Given the description of an element on the screen output the (x, y) to click on. 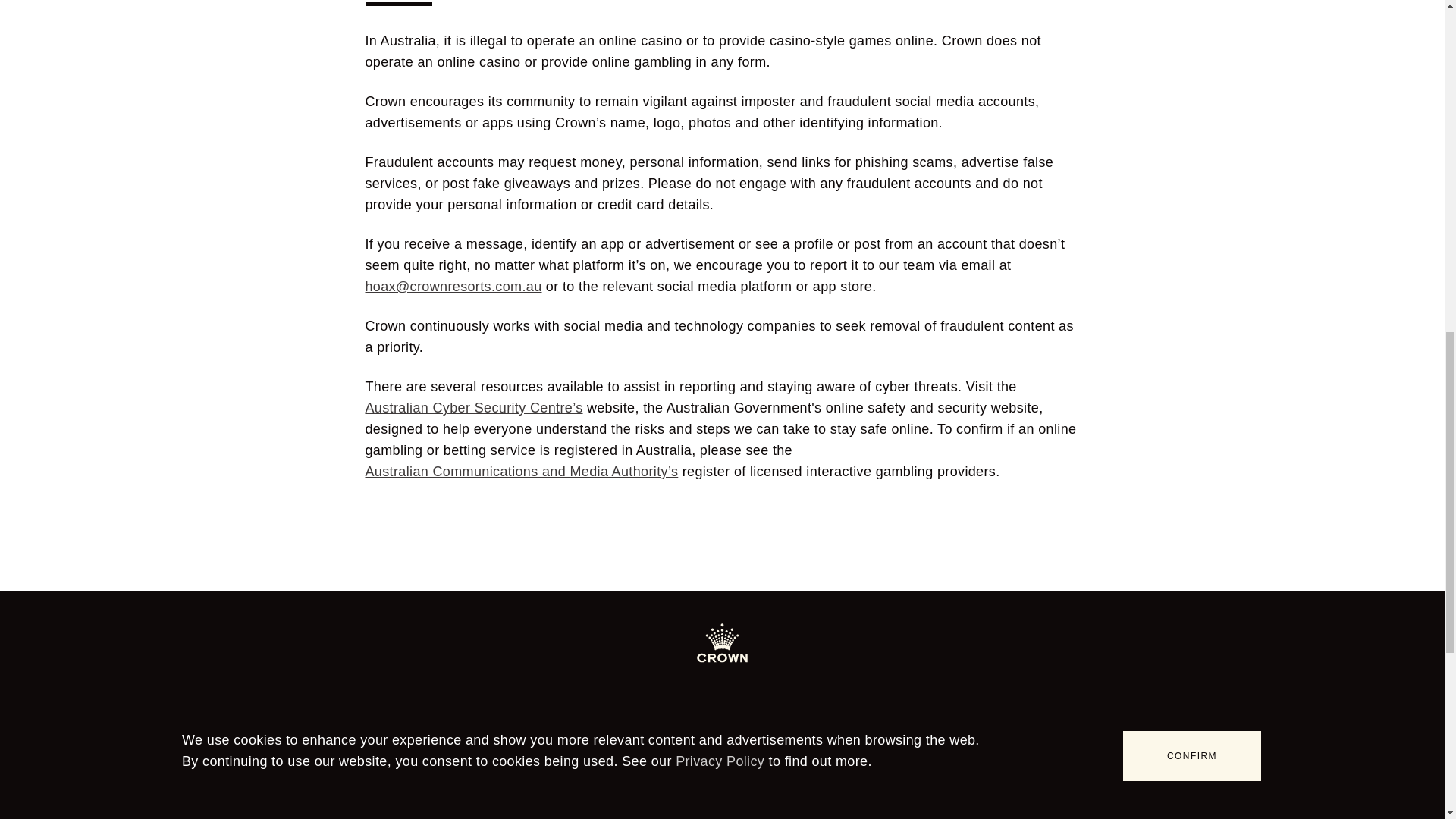
It's Happening (208, 789)
Be Cyber Aware (521, 789)
Shopping (352, 789)
CROWN SYDNEY (327, 752)
Hotel (188, 811)
GENERAL (560, 752)
Newsletter (509, 811)
